Given the description of an element on the screen output the (x, y) to click on. 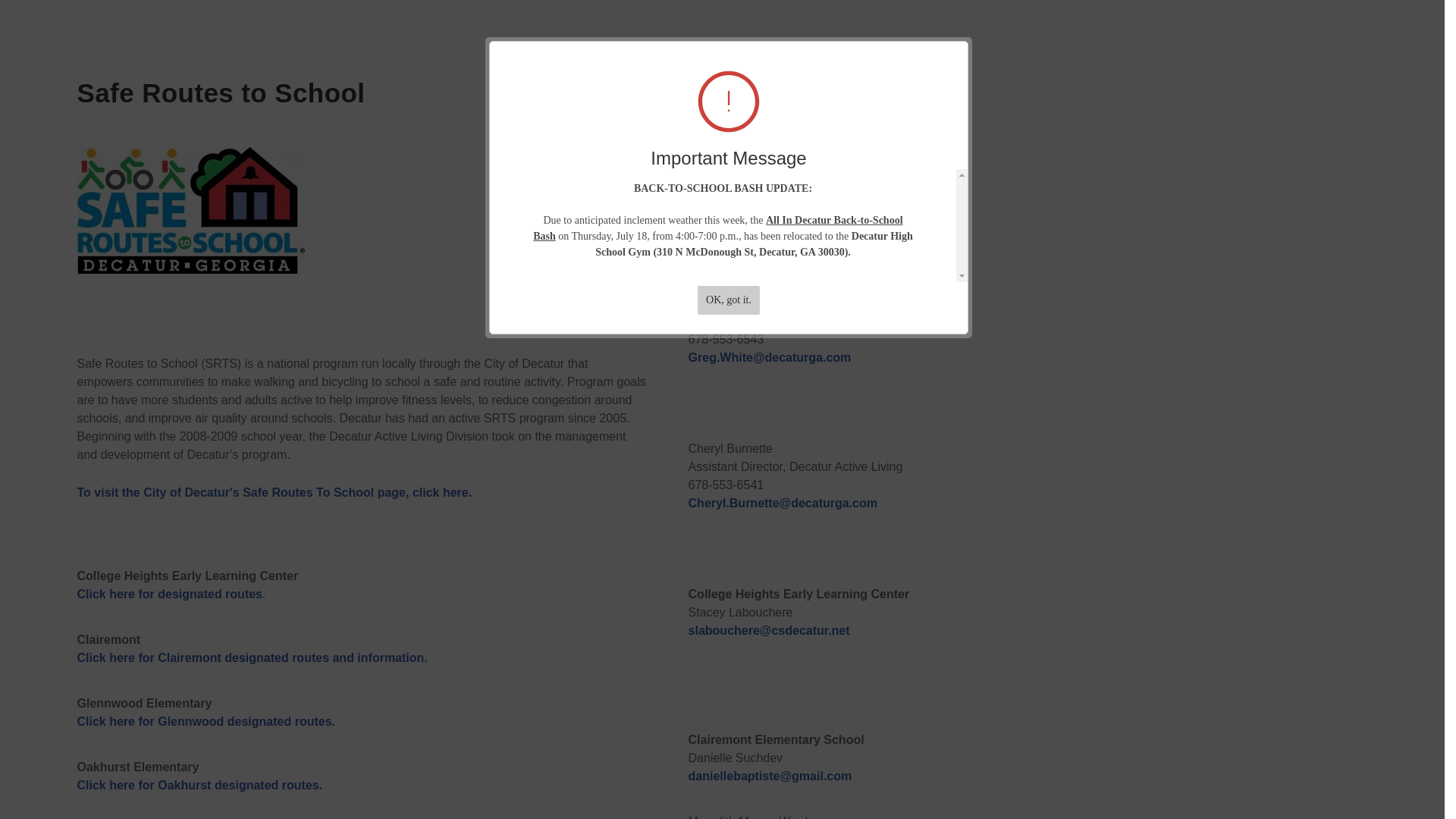
OK, got it. (728, 299)
safe routes to school logo (190, 210)
All In Decatur Back-to-School Bash (717, 227)
